Given the description of an element on the screen output the (x, y) to click on. 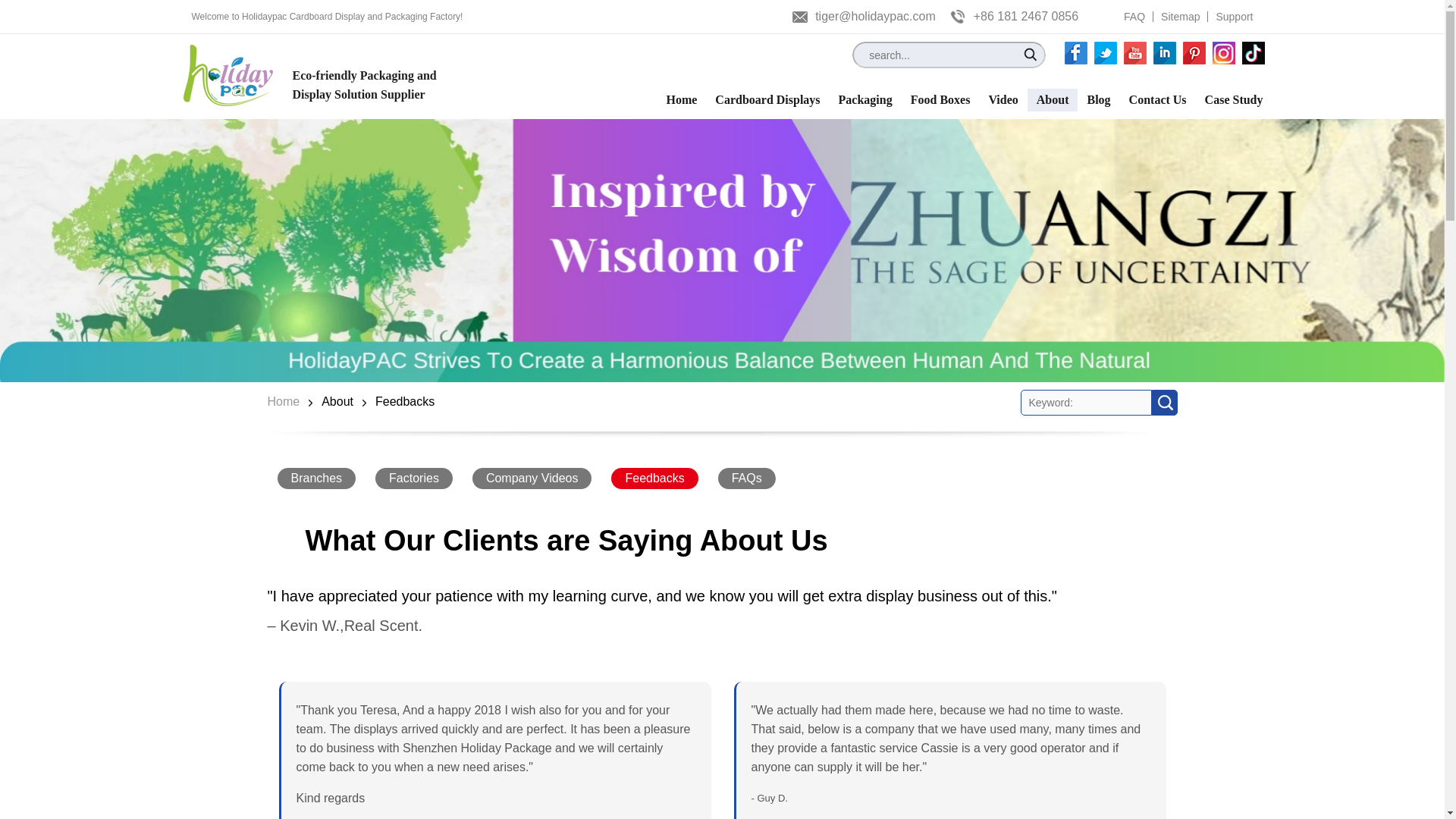
Support (1233, 16)
Packaging (865, 99)
Shenzhen Holiday Package and Display Co.Ltd (229, 75)
Sitemap (1179, 16)
Home (681, 99)
Sitemap (1179, 16)
Packaging (865, 99)
Cardboard Displays (767, 99)
Cardboard Displays (767, 99)
